Given the description of an element on the screen output the (x, y) to click on. 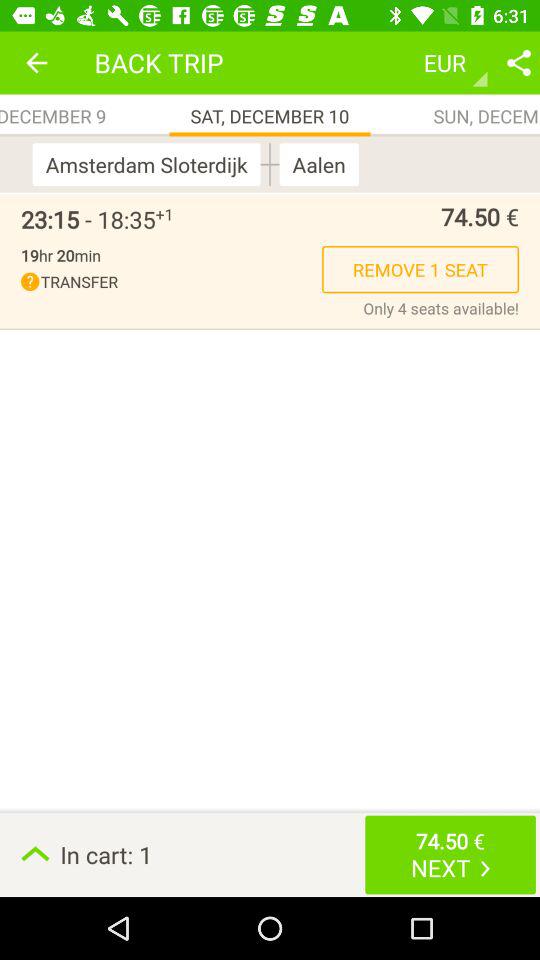
open item next to aalen (269, 164)
